Given the description of an element on the screen output the (x, y) to click on. 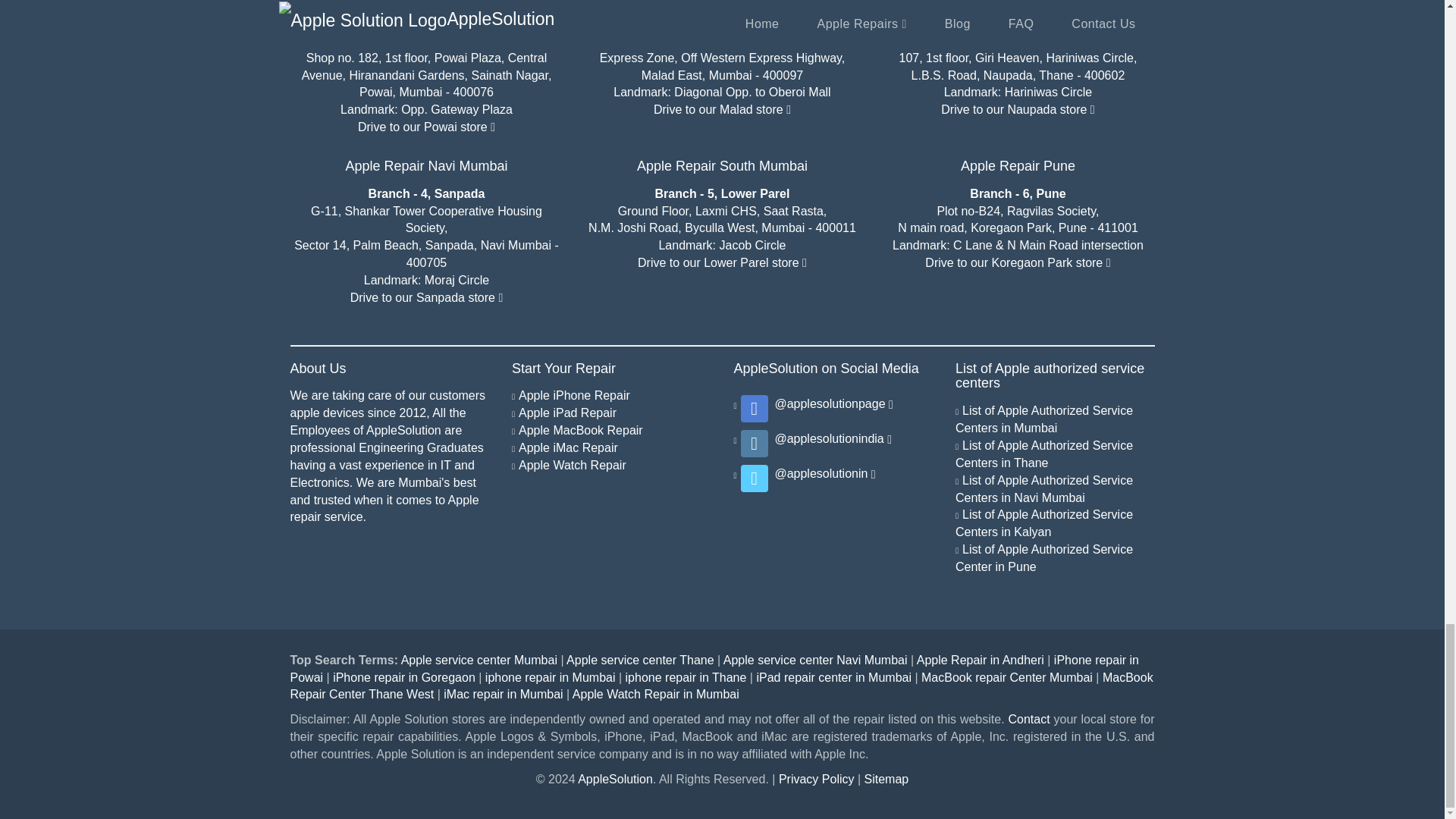
AppleSolution (615, 779)
Privacy Policy (816, 779)
Privacy Policy (886, 779)
